Given the description of an element on the screen output the (x, y) to click on. 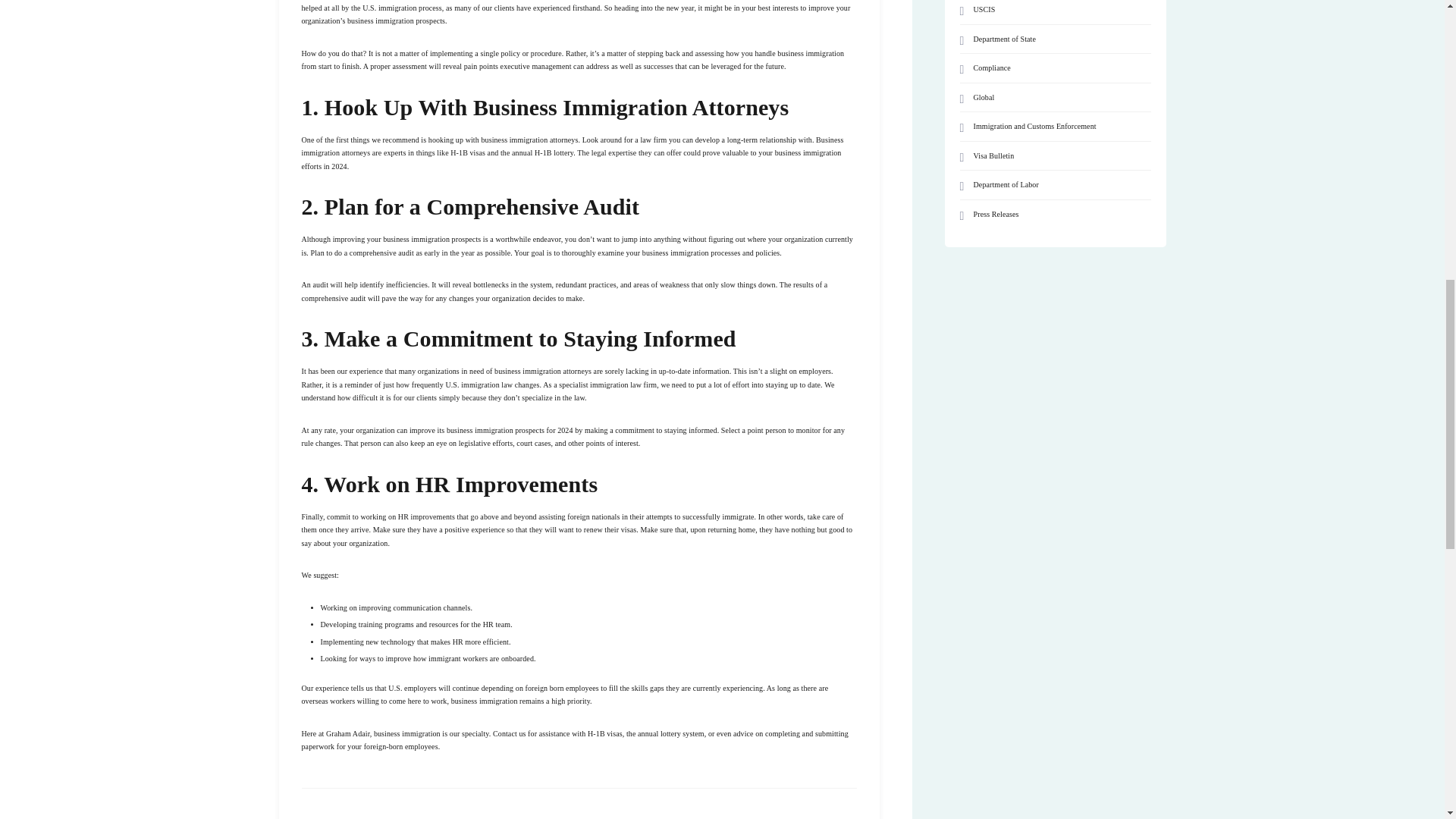
business immigration (380, 20)
U.S. immigration law (479, 384)
H-1B lottery (553, 152)
Contact us (509, 733)
business immigration (484, 700)
Graham Adair (347, 733)
U.S. immigration (389, 8)
renew their visas (609, 529)
business immigration attorneys (529, 139)
